Given the description of an element on the screen output the (x, y) to click on. 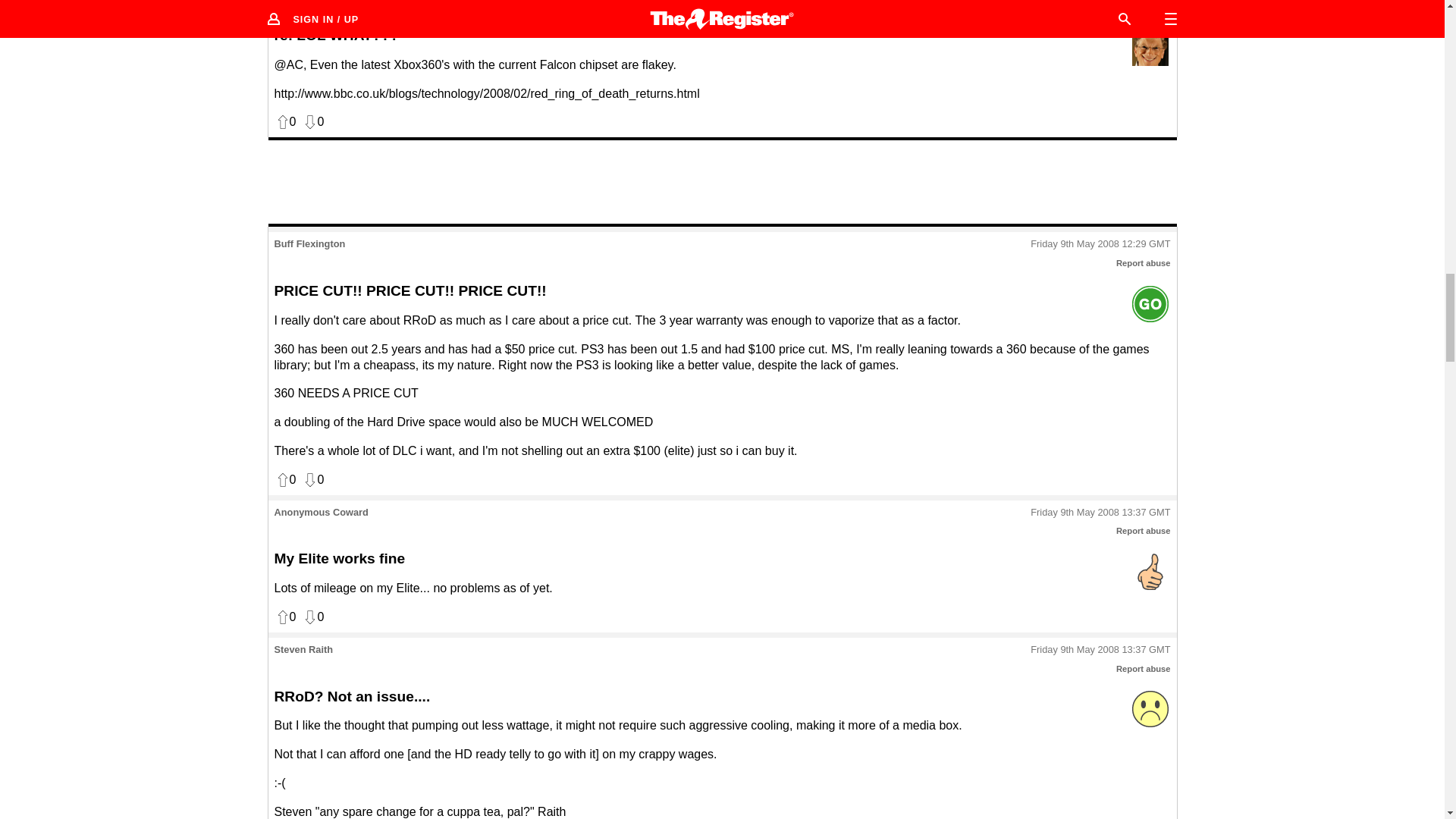
Report abuse (1143, 668)
Report abuse (1143, 262)
Report abuse (1143, 7)
Report abuse (1143, 530)
